Given the description of an element on the screen output the (x, y) to click on. 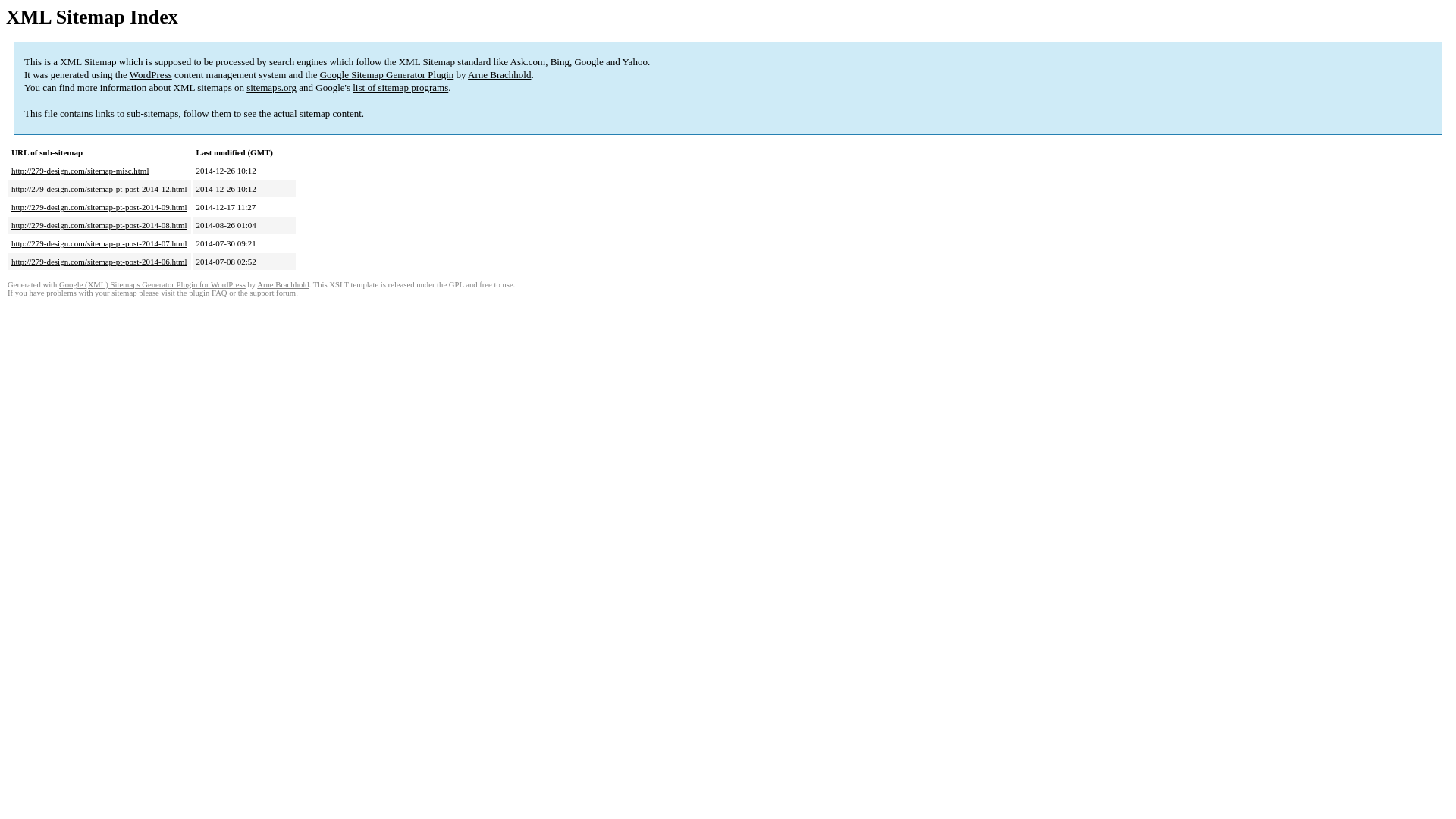
http://279-design.com/sitemap-pt-post-2014-06.html Element type: text (99, 261)
Google Sitemap Generator Plugin Element type: text (387, 74)
http://279-design.com/sitemap-pt-post-2014-12.html Element type: text (99, 188)
http://279-design.com/sitemap-pt-post-2014-09.html Element type: text (99, 206)
sitemaps.org Element type: text (271, 87)
Google (XML) Sitemaps Generator Plugin for WordPress Element type: text (152, 284)
support forum Element type: text (272, 292)
Arne Brachhold Element type: text (282, 284)
WordPress Element type: text (150, 74)
http://279-design.com/sitemap-pt-post-2014-07.html Element type: text (99, 242)
plugin FAQ Element type: text (207, 292)
list of sitemap programs Element type: text (400, 87)
http://279-design.com/sitemap-pt-post-2014-08.html Element type: text (99, 224)
Arne Brachhold Element type: text (498, 74)
http://279-design.com/sitemap-misc.html Element type: text (79, 170)
